Given the description of an element on the screen output the (x, y) to click on. 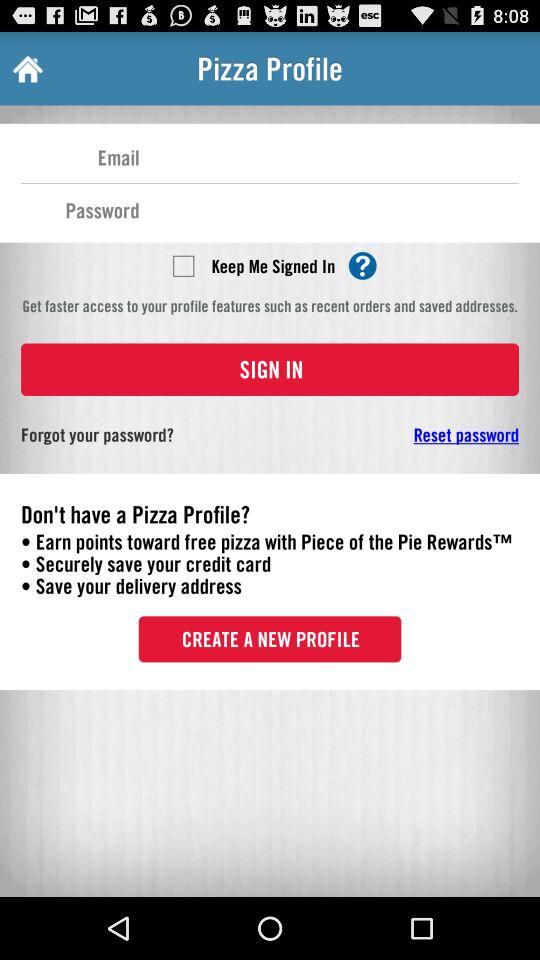
put an email (329, 156)
